Given the description of an element on the screen output the (x, y) to click on. 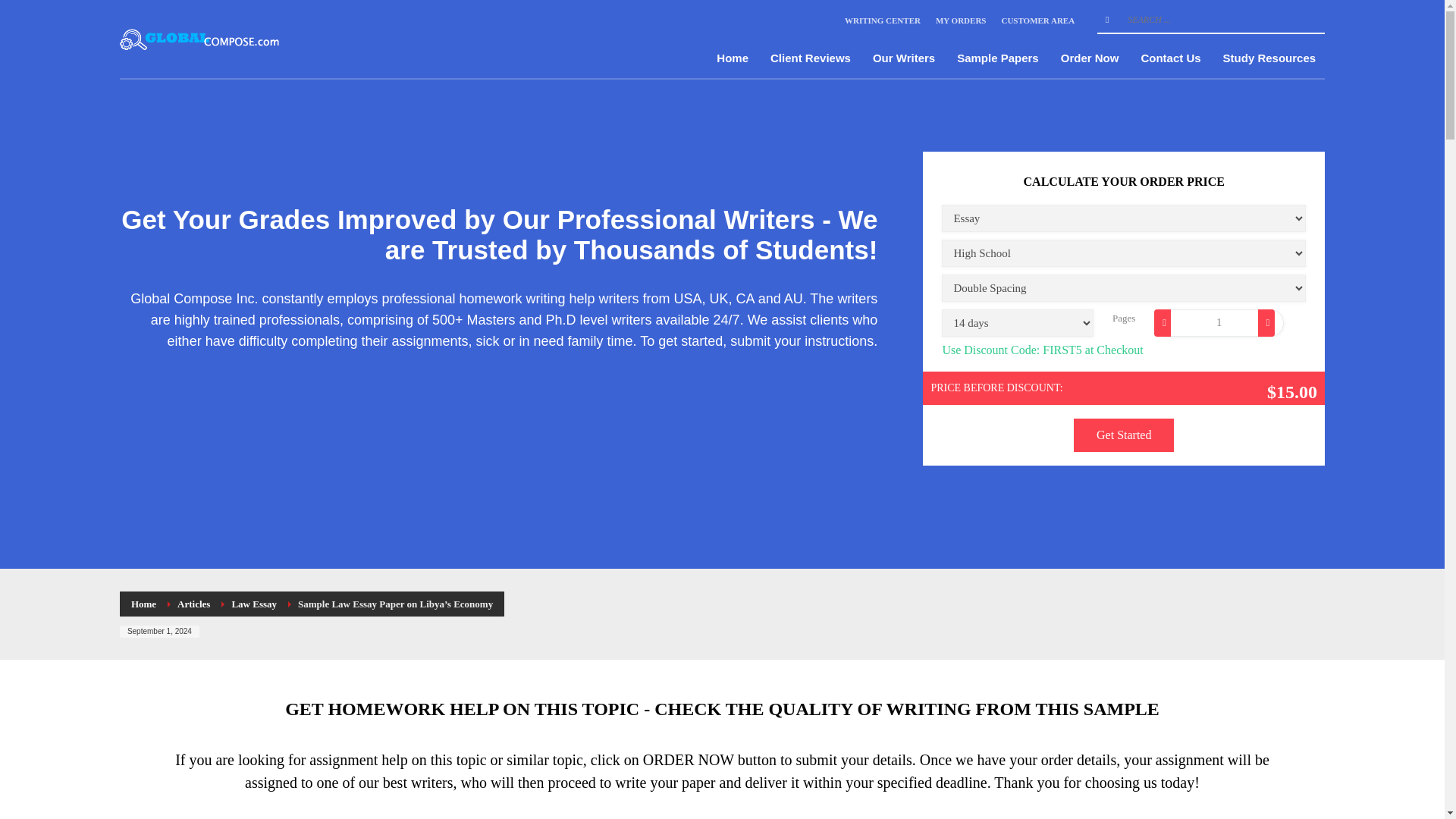
Articles (193, 603)
Order Now (1089, 57)
Homework Help (200, 38)
MY ORDERS (961, 20)
1 (1219, 322)
Study Resources (1269, 57)
Home (143, 603)
Law Essay (253, 603)
Sample Papers (997, 57)
WRITING CENTER (882, 20)
